Given the description of an element on the screen output the (x, y) to click on. 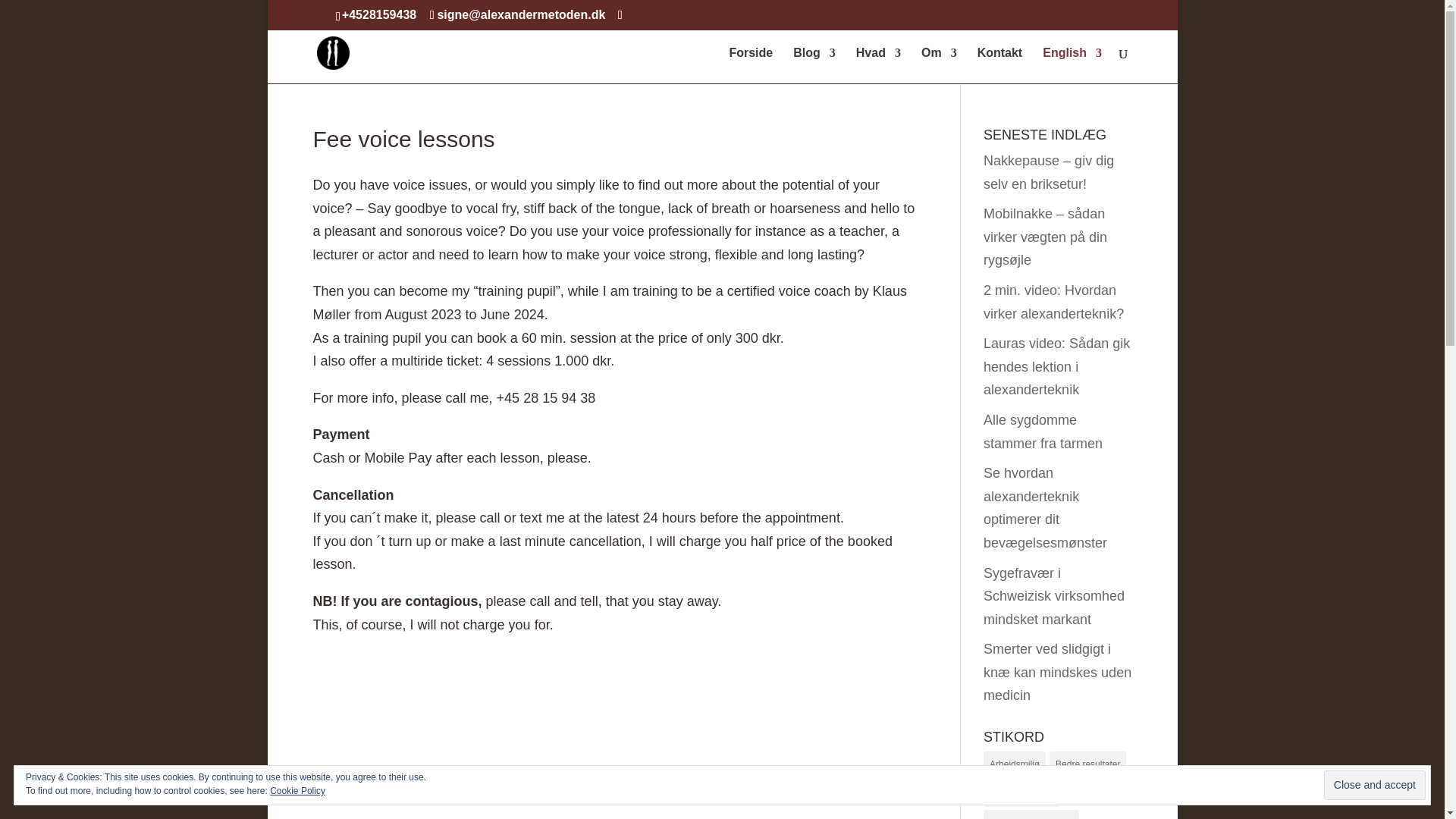
Forside (751, 65)
English (1072, 65)
Hvad (877, 65)
Close and accept (1374, 785)
Om (938, 65)
Blog (814, 65)
Kontakt (999, 65)
